Given the description of an element on the screen output the (x, y) to click on. 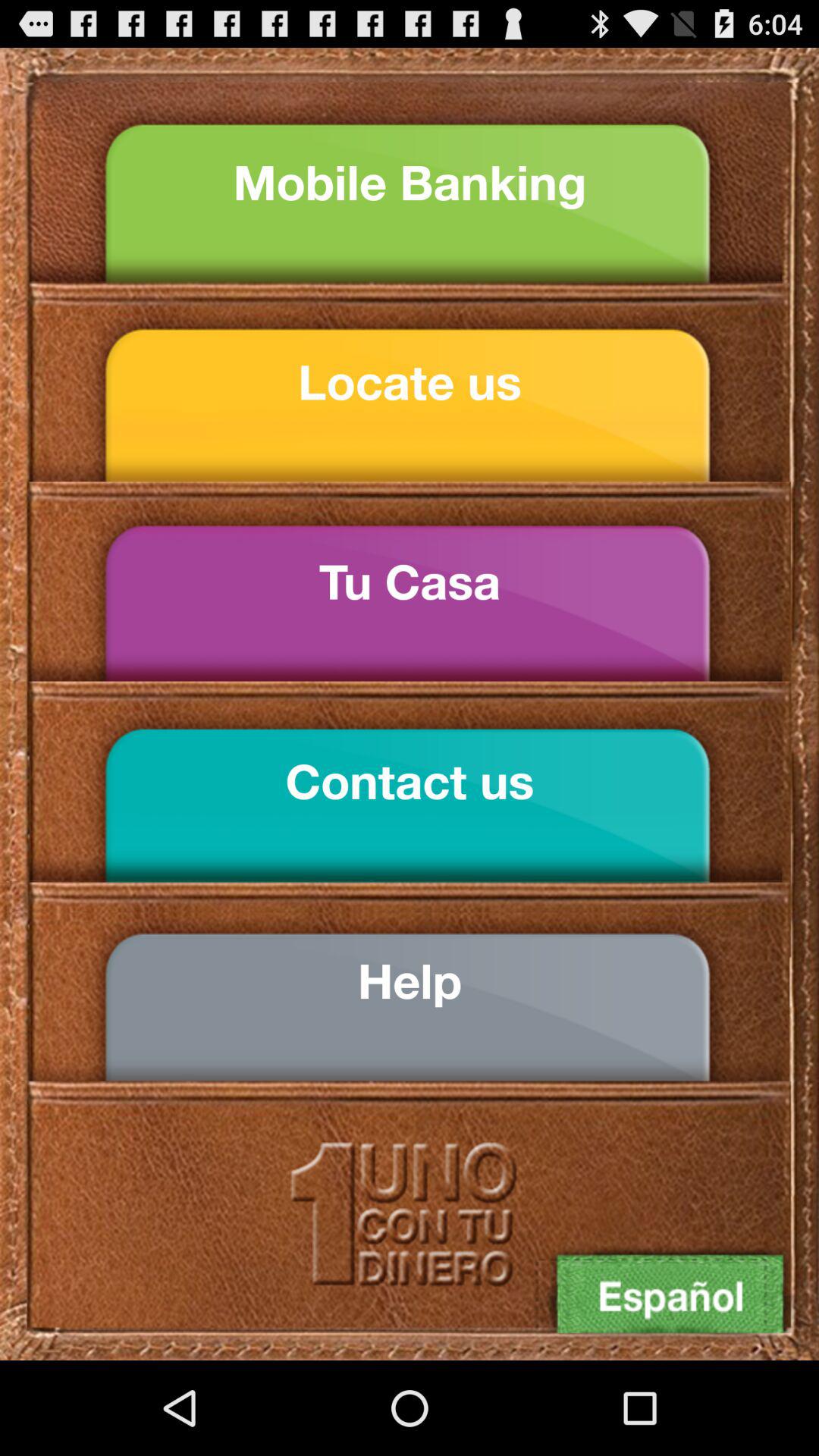
open contact us icon (409, 781)
